Given the description of an element on the screen output the (x, y) to click on. 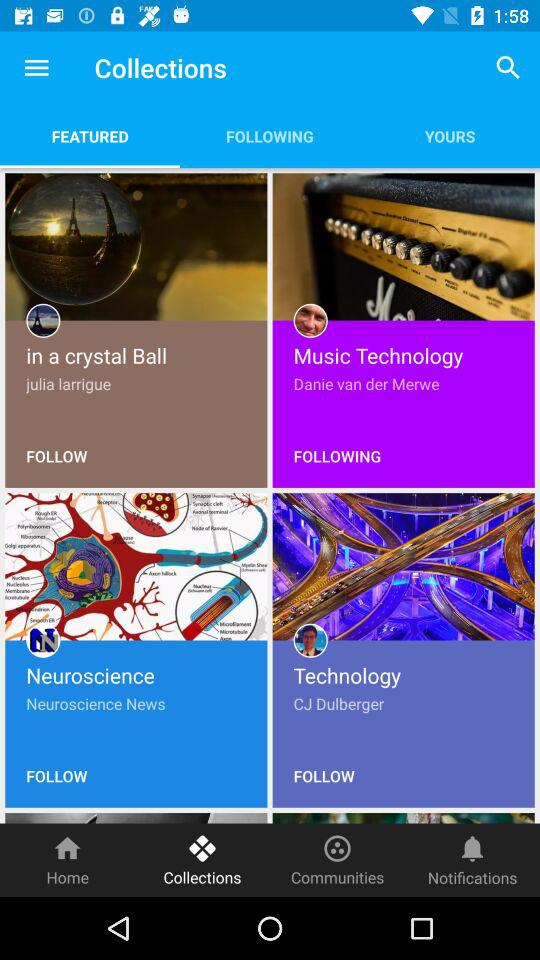
turn on icon next to following app (90, 135)
